Given the description of an element on the screen output the (x, y) to click on. 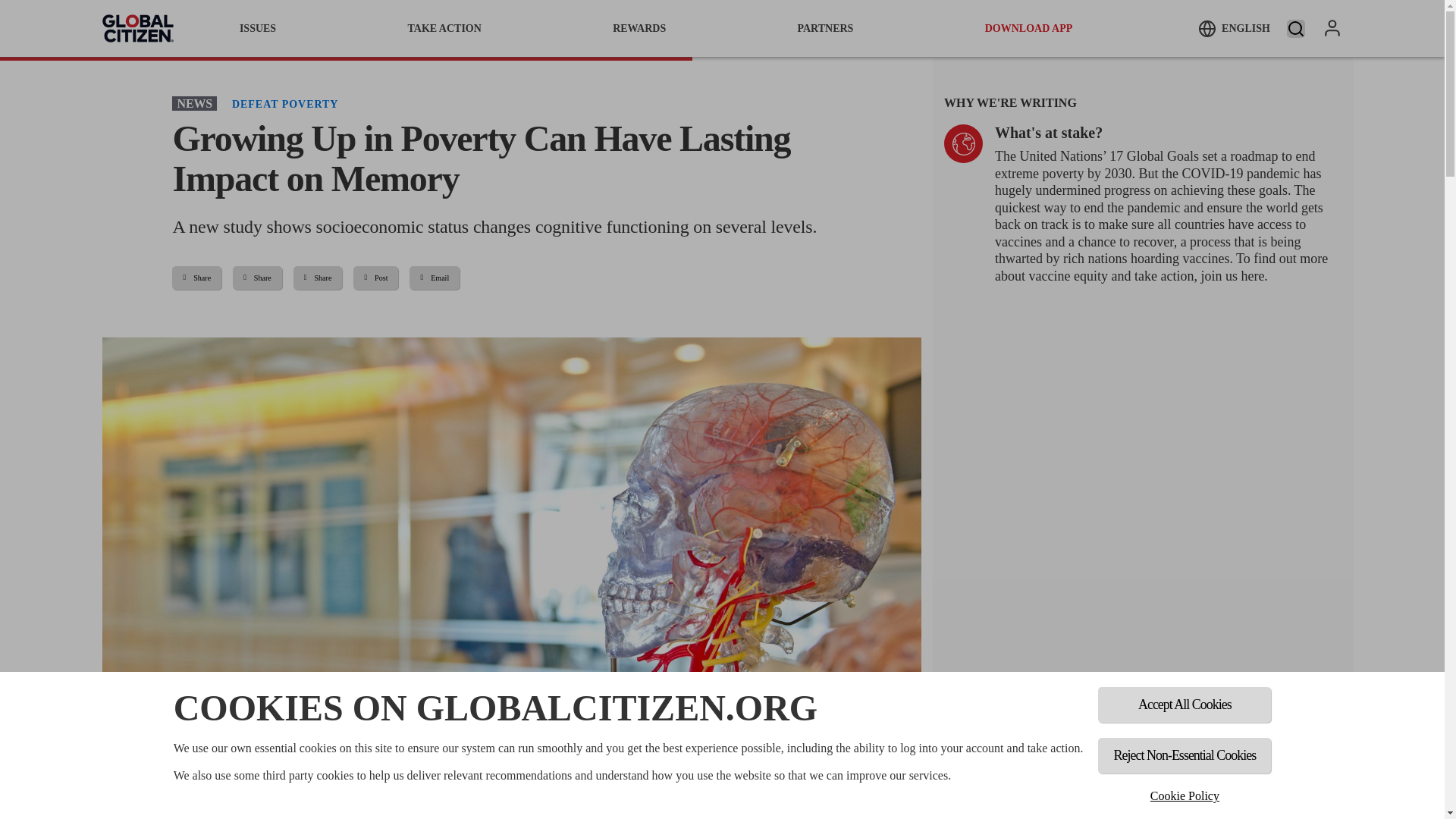
Share (196, 277)
REWARDS (639, 28)
ENGLISH (1233, 28)
ISSUES (257, 28)
TAKE ACTION (444, 28)
PARTNERS (825, 28)
Defeat Poverty (284, 103)
DEFEAT POVERTY (284, 103)
DOWNLOAD APP (1029, 28)
